Given the description of an element on the screen output the (x, y) to click on. 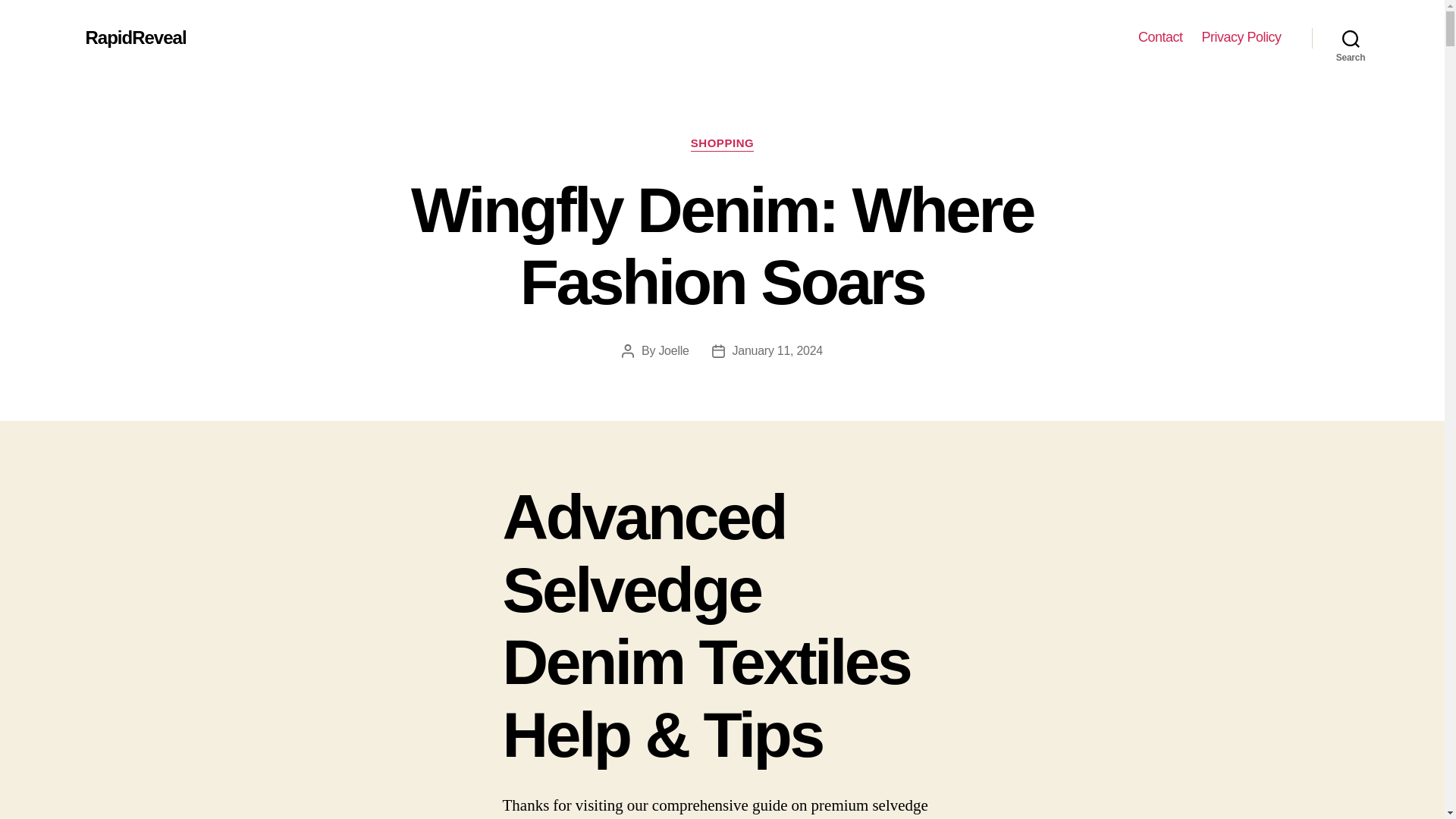
Privacy Policy (1241, 37)
Contact (1160, 37)
SHOPPING (722, 143)
RapidReveal (135, 37)
Search (1350, 37)
Joelle (673, 350)
January 11, 2024 (777, 350)
